Given the description of an element on the screen output the (x, y) to click on. 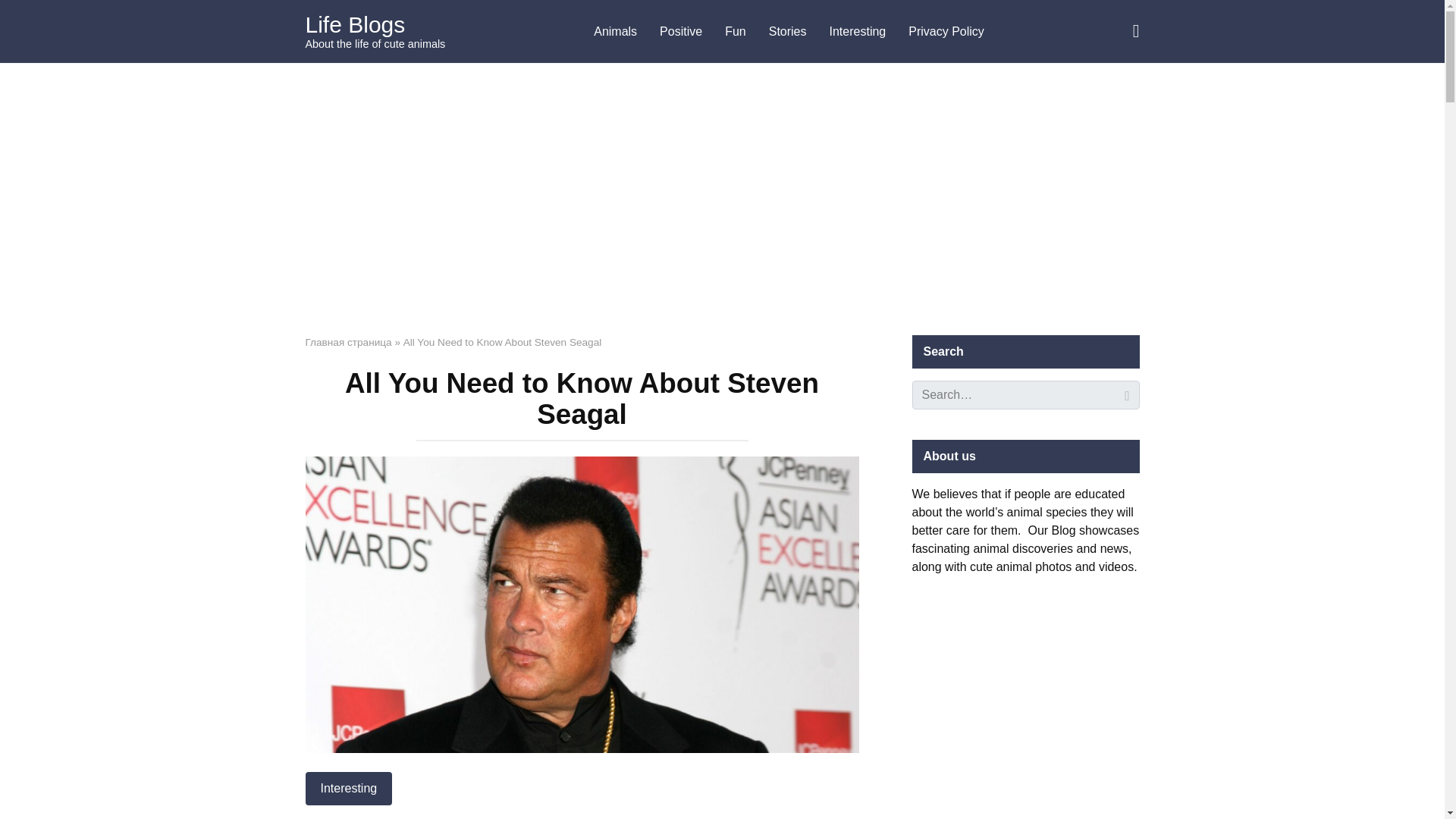
Interesting (858, 31)
Positive (680, 31)
Animals (614, 31)
Fun (735, 31)
Interesting (347, 788)
Stories (787, 31)
Life Blogs (354, 24)
Privacy Policy (945, 31)
